Given the description of an element on the screen output the (x, y) to click on. 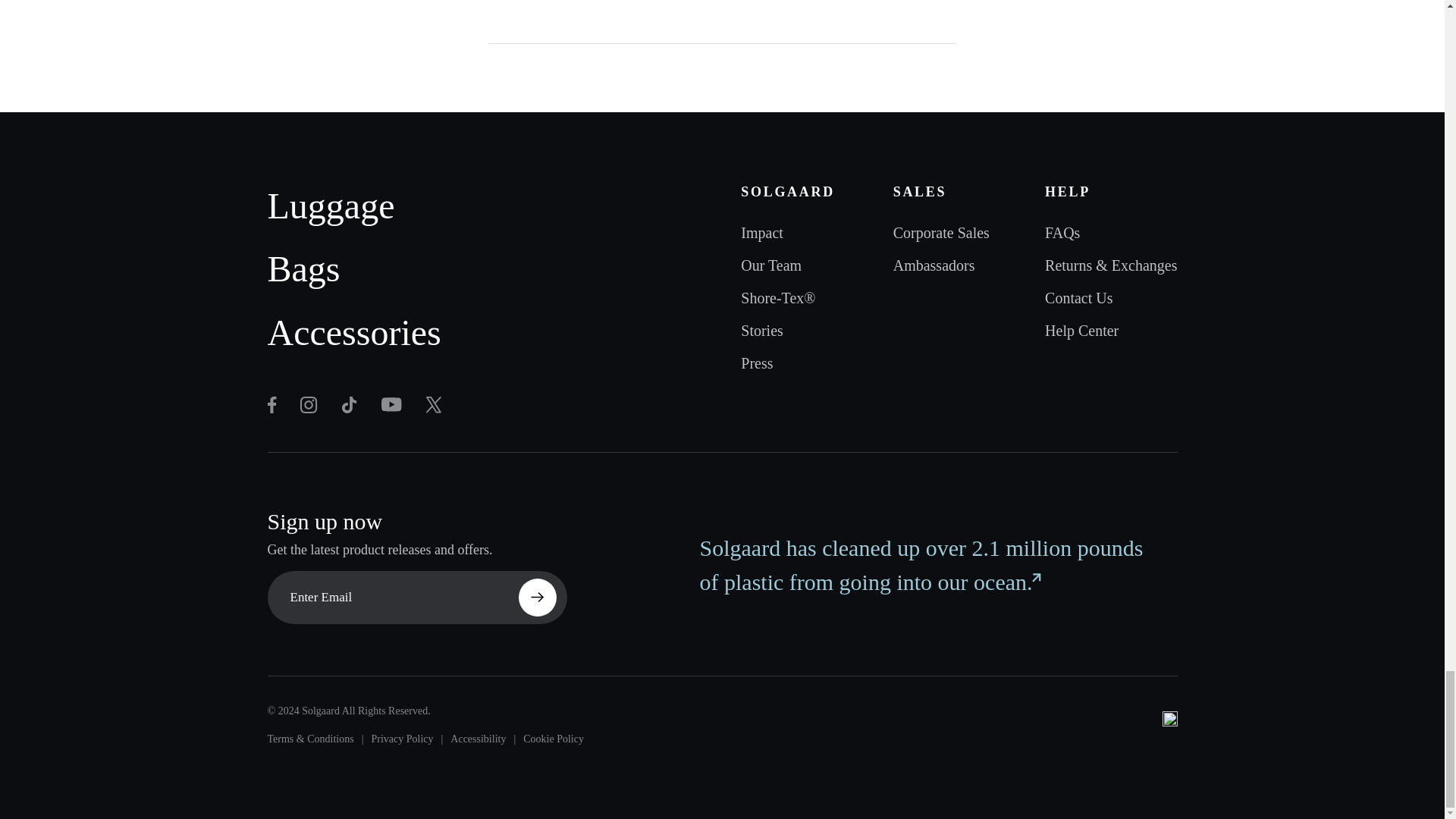
Solgaard TikTok (349, 404)
Solgaard Twitter (308, 404)
Solgaard Twitter (391, 404)
Cookie Policy (552, 739)
Privacy Policy (401, 739)
Accessibility (477, 739)
